Given the description of an element on the screen output the (x, y) to click on. 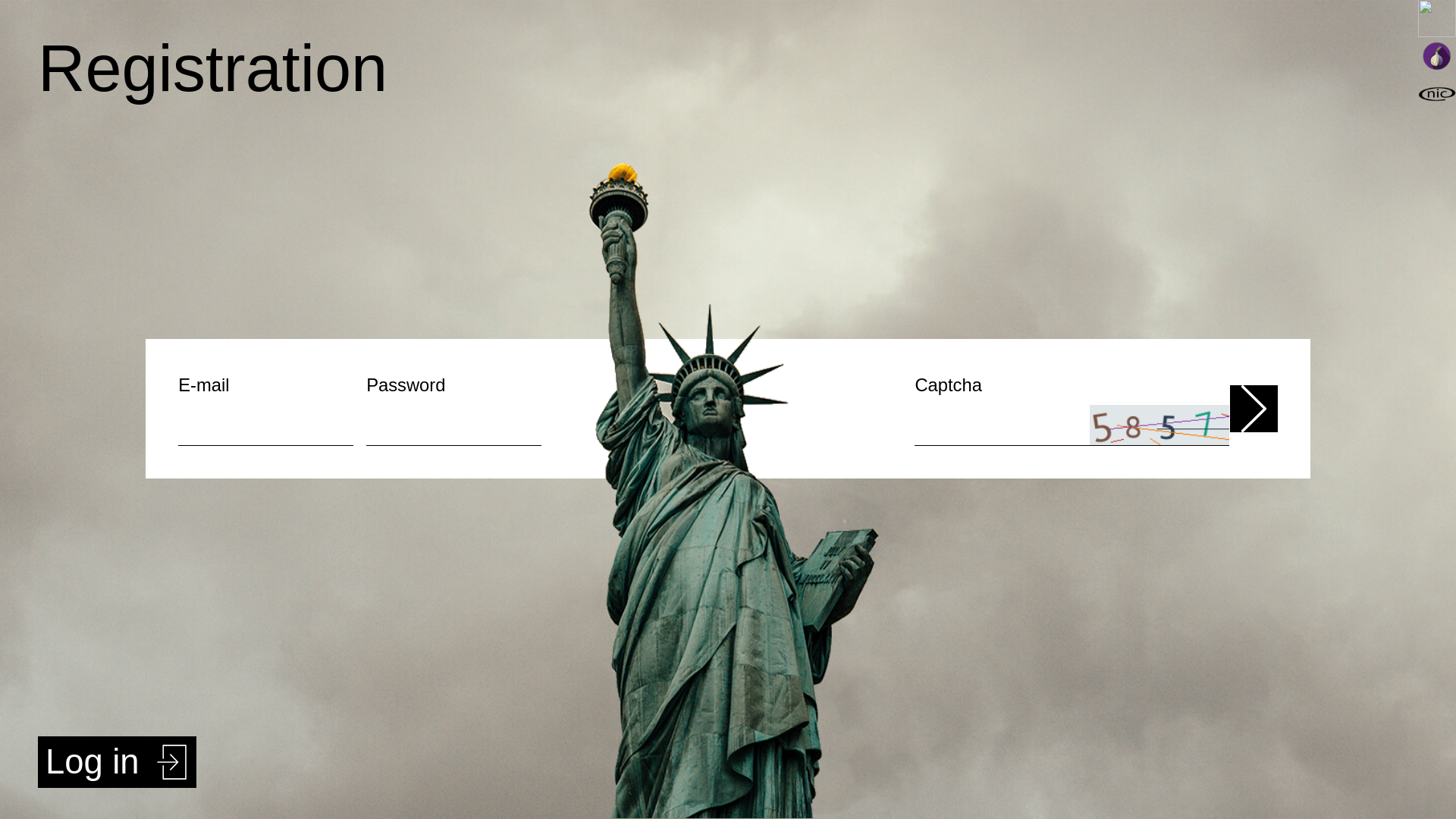
Log in Element type: text (116, 761)
